Given the description of an element on the screen output the (x, y) to click on. 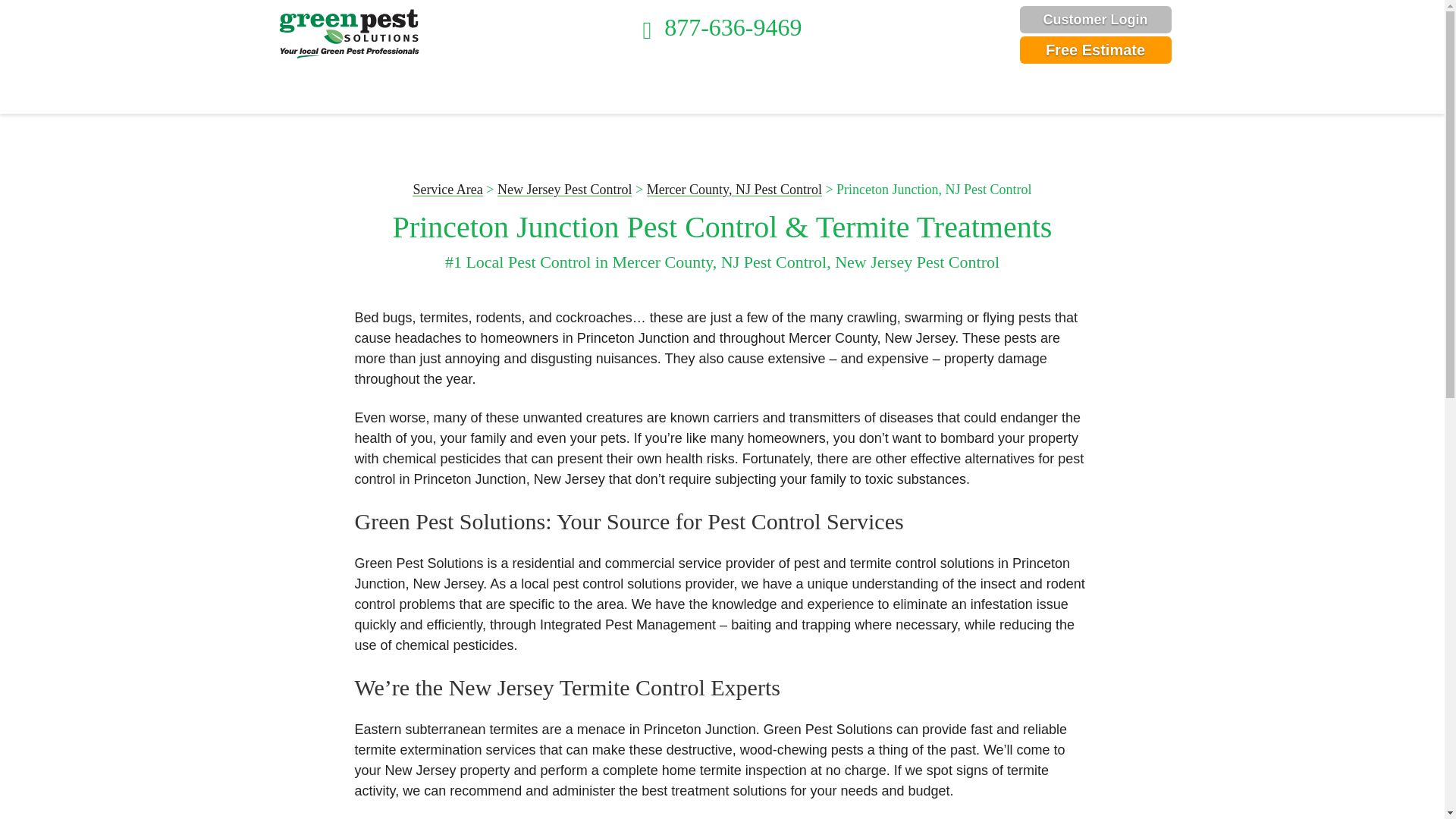
Customer Login (1094, 19)
Free Estimate (1094, 49)
877-636-9469 (722, 26)
